Given the description of an element on the screen output the (x, y) to click on. 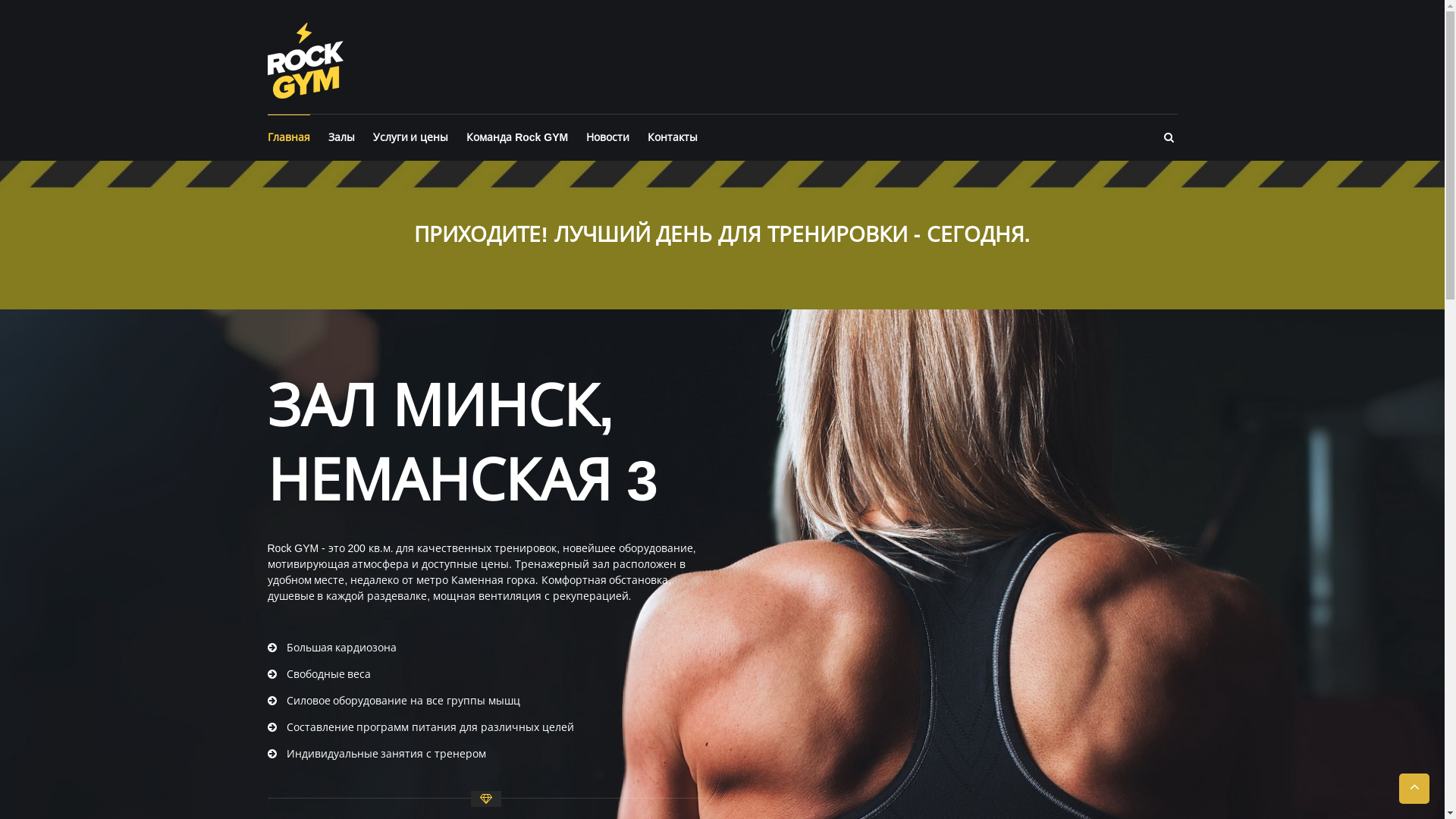
ROCK GYM Element type: text (432, 31)
Rock GYM Element type: hover (304, 59)
